Given the description of an element on the screen output the (x, y) to click on. 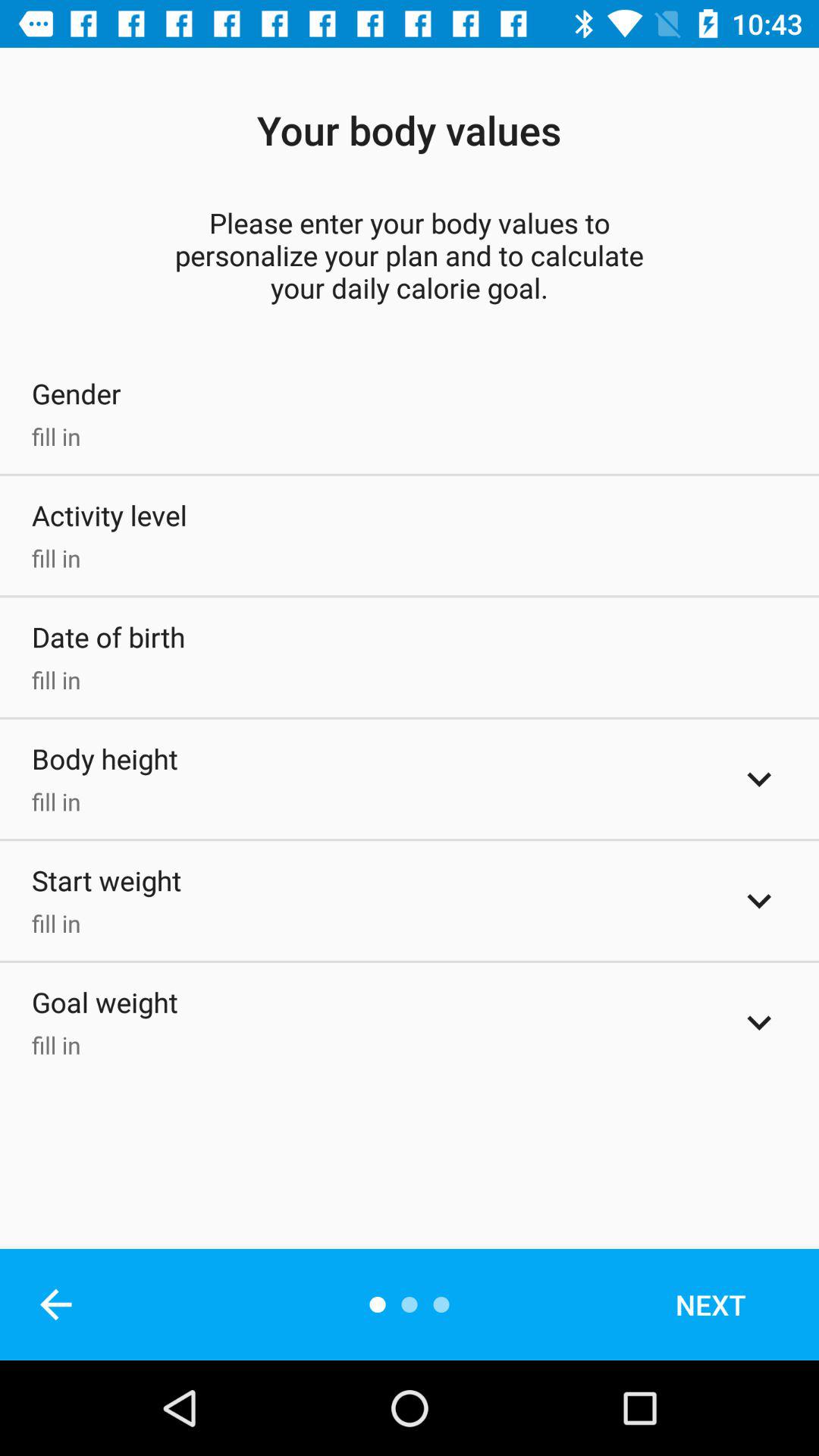
create goal weight (759, 1022)
